Given the description of an element on the screen output the (x, y) to click on. 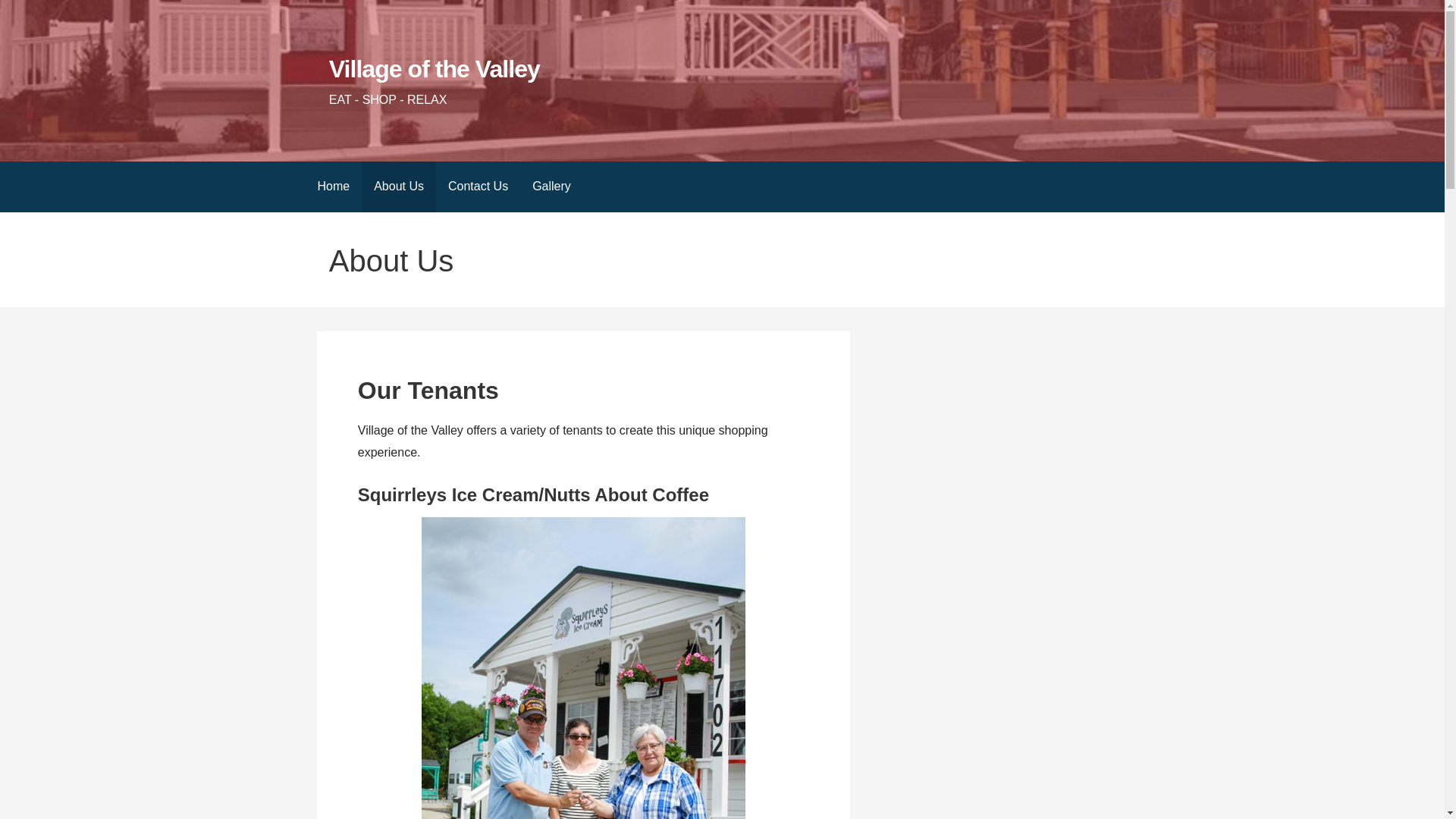
About Us (398, 186)
Gallery (551, 186)
Contact Us (477, 186)
Home (332, 186)
Village of the Valley (434, 68)
